Given the description of an element on the screen output the (x, y) to click on. 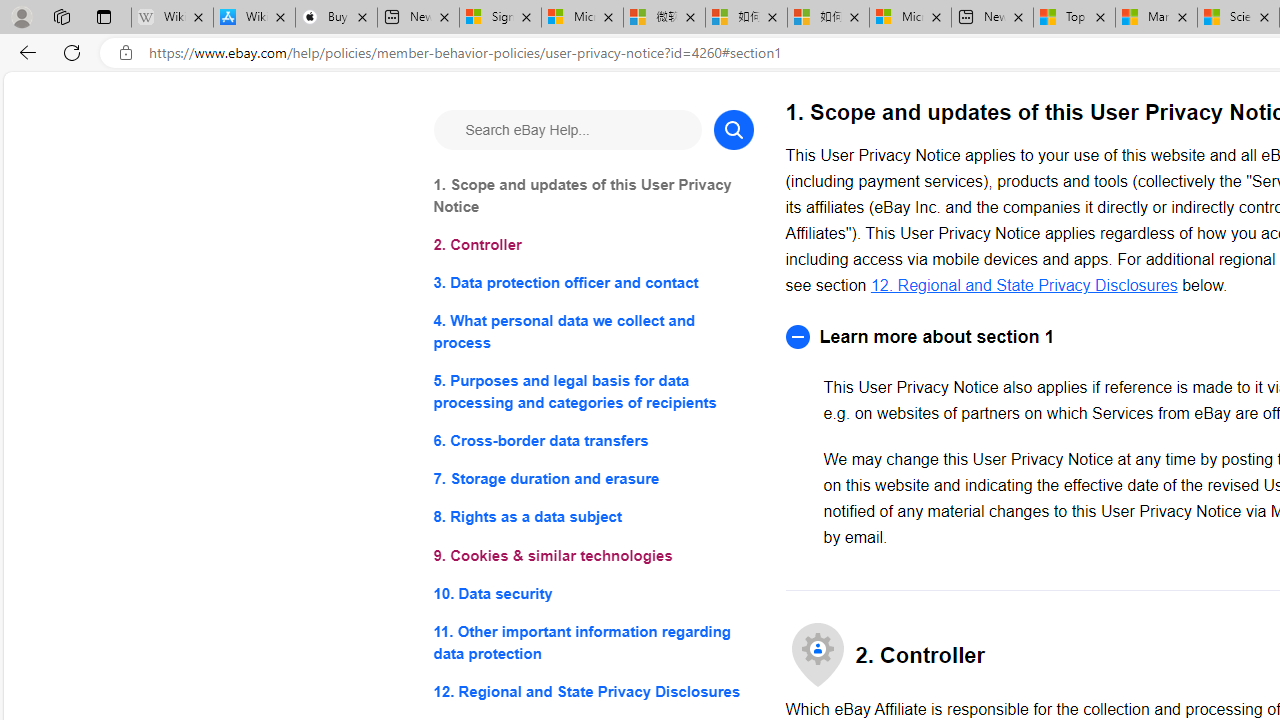
2. Controller (592, 245)
Microsoft account | Account Checkup (910, 17)
Search eBay Help... (566, 129)
Buy iPad - Apple (336, 17)
7. Storage duration and erasure (592, 479)
6. Cross-border data transfers (592, 440)
Sign in to your Microsoft account (500, 17)
1. Scope and updates of this User Privacy Notice (592, 196)
9. Cookies & similar technologies (592, 555)
10. Data security (592, 592)
12. Regional and State Privacy Disclosures (592, 690)
3. Data protection officer and contact (592, 283)
11. Other important information regarding data protection (592, 642)
